Given the description of an element on the screen output the (x, y) to click on. 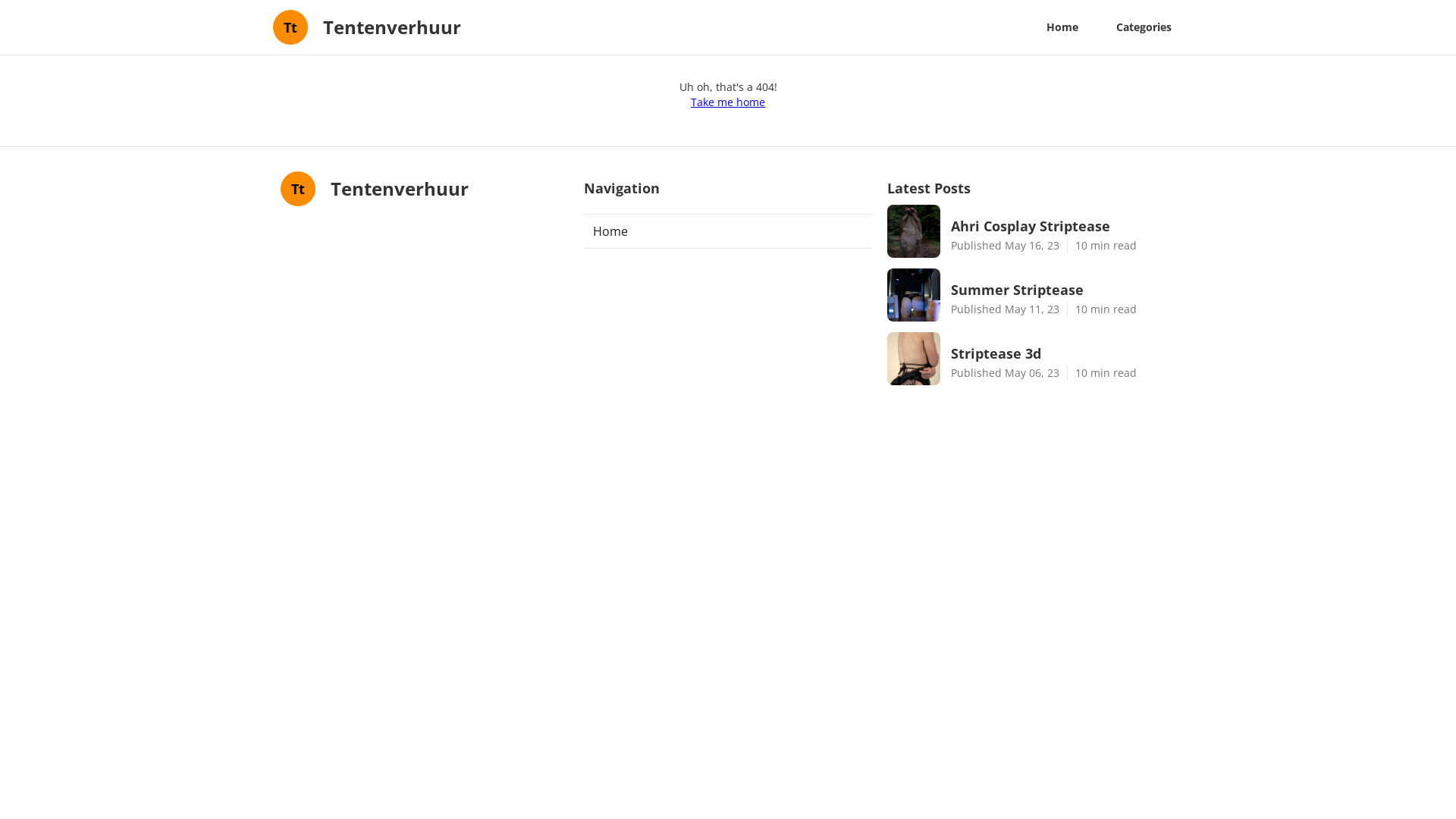
Take me home Element type: text (727, 101)
Categories Element type: text (1143, 26)
Ahri Cosplay Striptease Element type: text (1062, 225)
Striptease 3d Element type: text (1062, 353)
Summer Striptease Element type: text (1062, 289)
Home Element type: text (727, 230)
Home Element type: text (1062, 26)
